Given the description of an element on the screen output the (x, y) to click on. 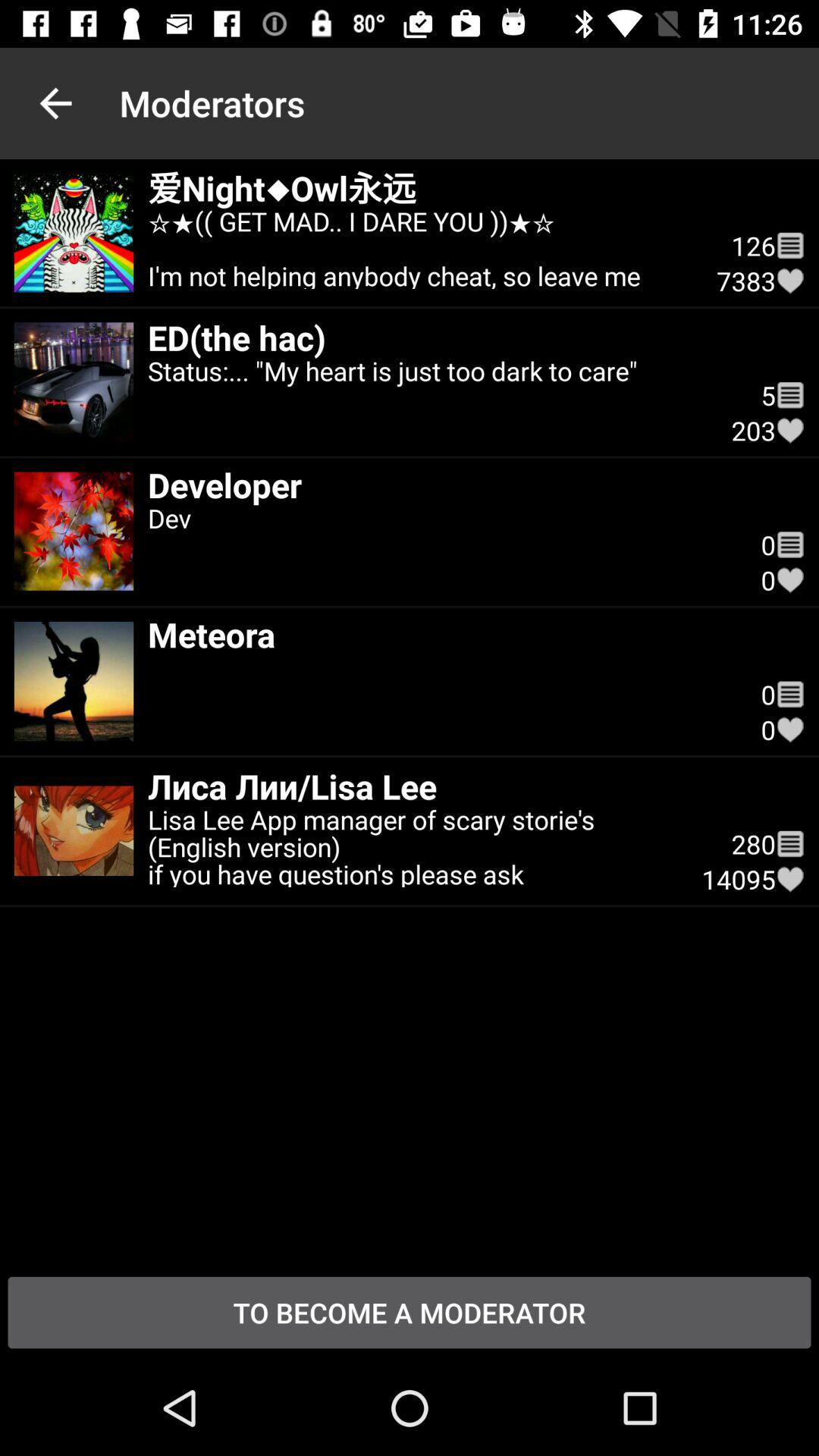
turn on the dev icon (439, 545)
